Given the description of an element on the screen output the (x, y) to click on. 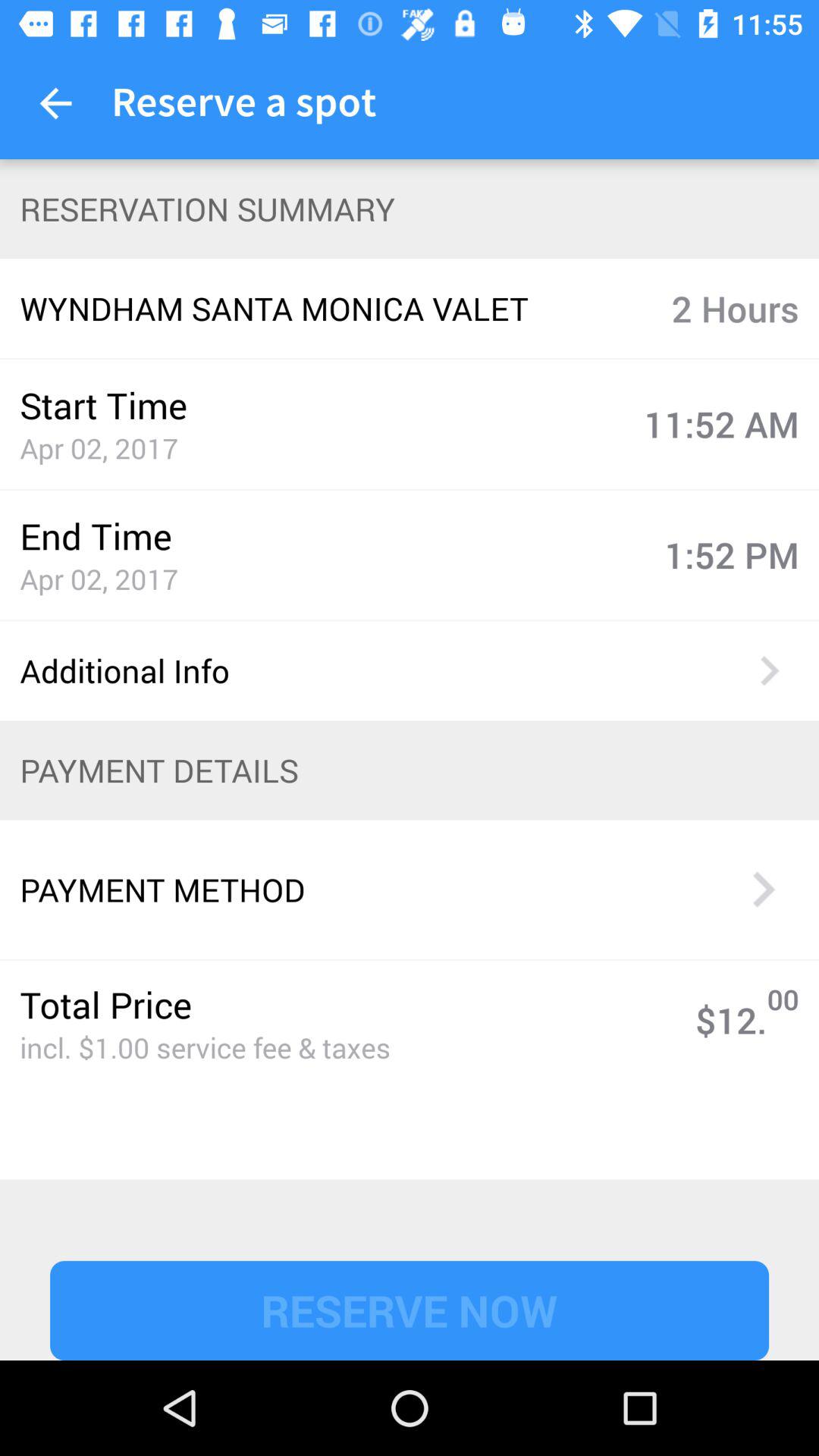
scroll to the reserve now icon (409, 1310)
